Given the description of an element on the screen output the (x, y) to click on. 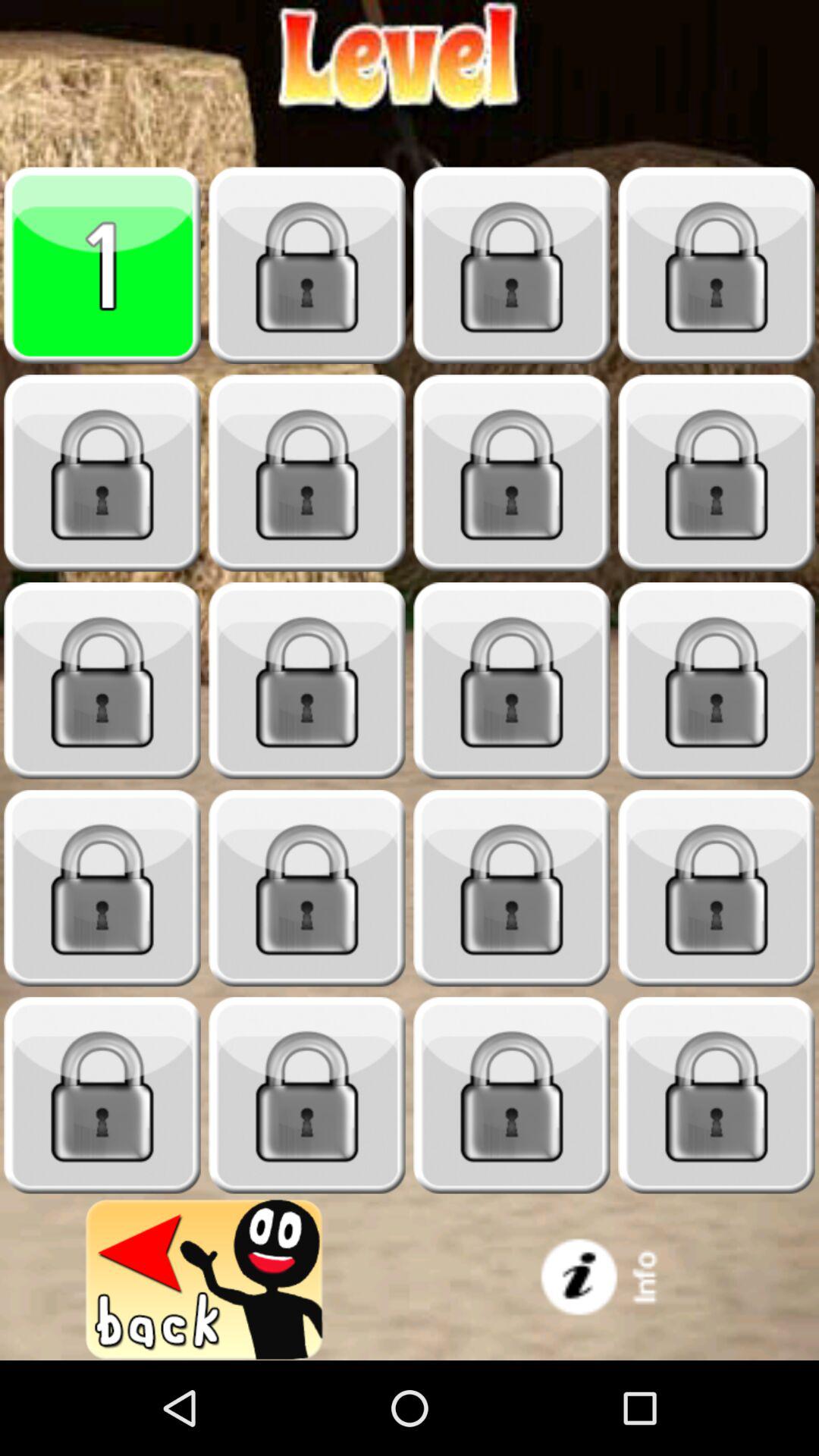
go back (204, 1279)
